Given the description of an element on the screen output the (x, y) to click on. 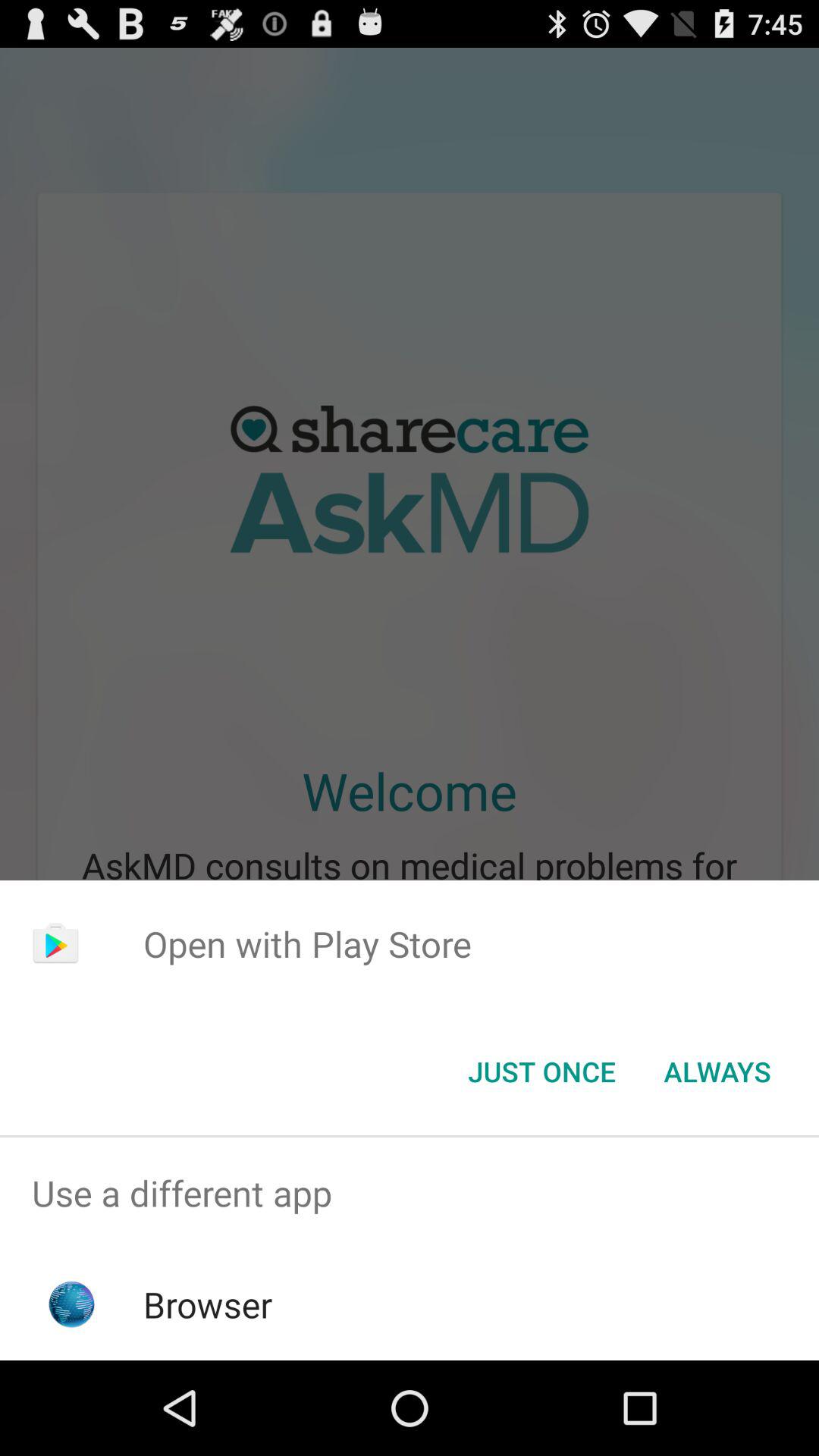
open the item next to just once button (717, 1071)
